Given the description of an element on the screen output the (x, y) to click on. 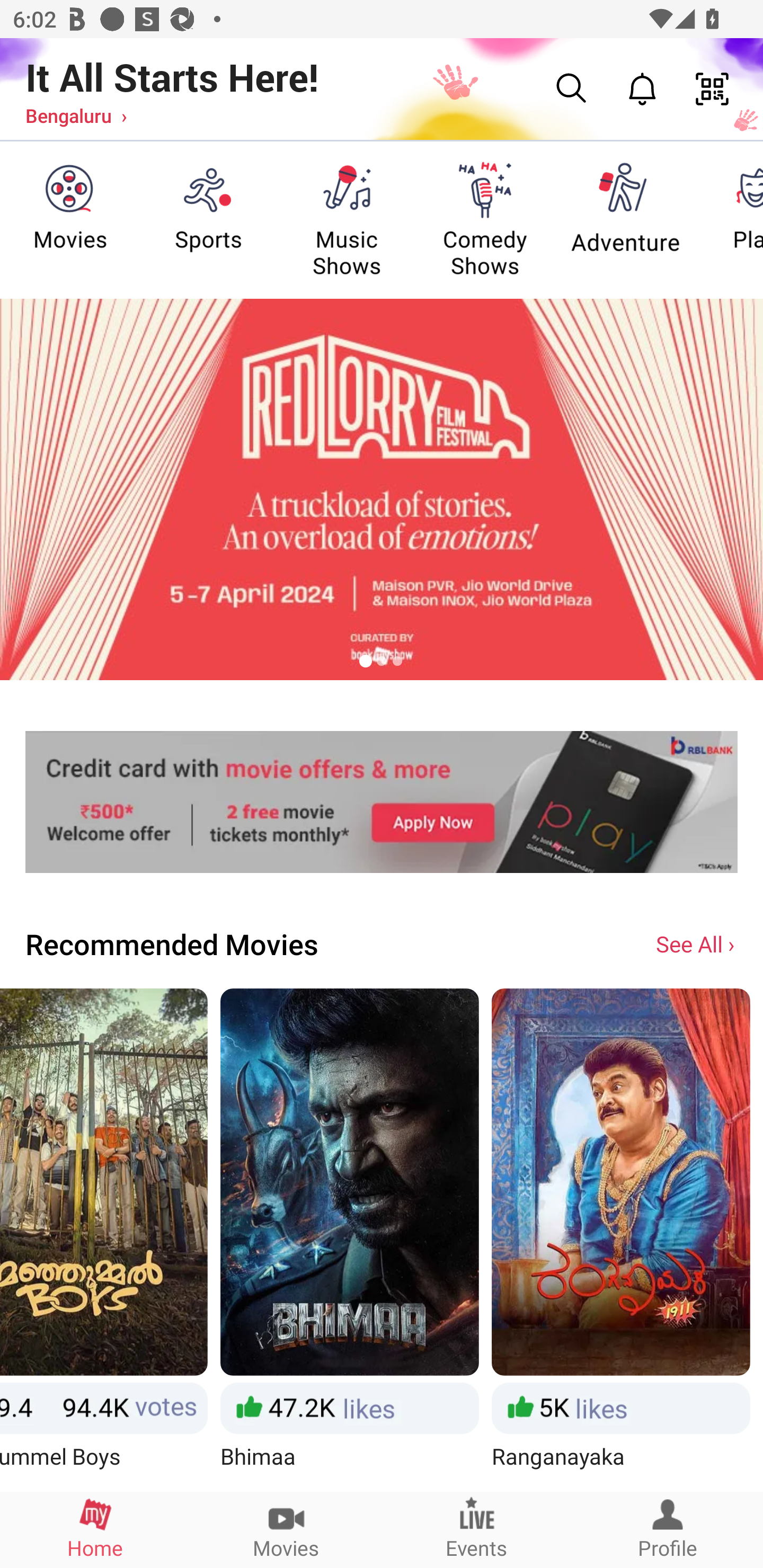
Bengaluru  › (76, 114)
See All › (696, 943)
Manjummel Boys (103, 1239)
Bhimaa (349, 1239)
Ranganayaka (620, 1239)
Home (95, 1529)
Movies (285, 1529)
Events (476, 1529)
Profile (667, 1529)
